Given the description of an element on the screen output the (x, y) to click on. 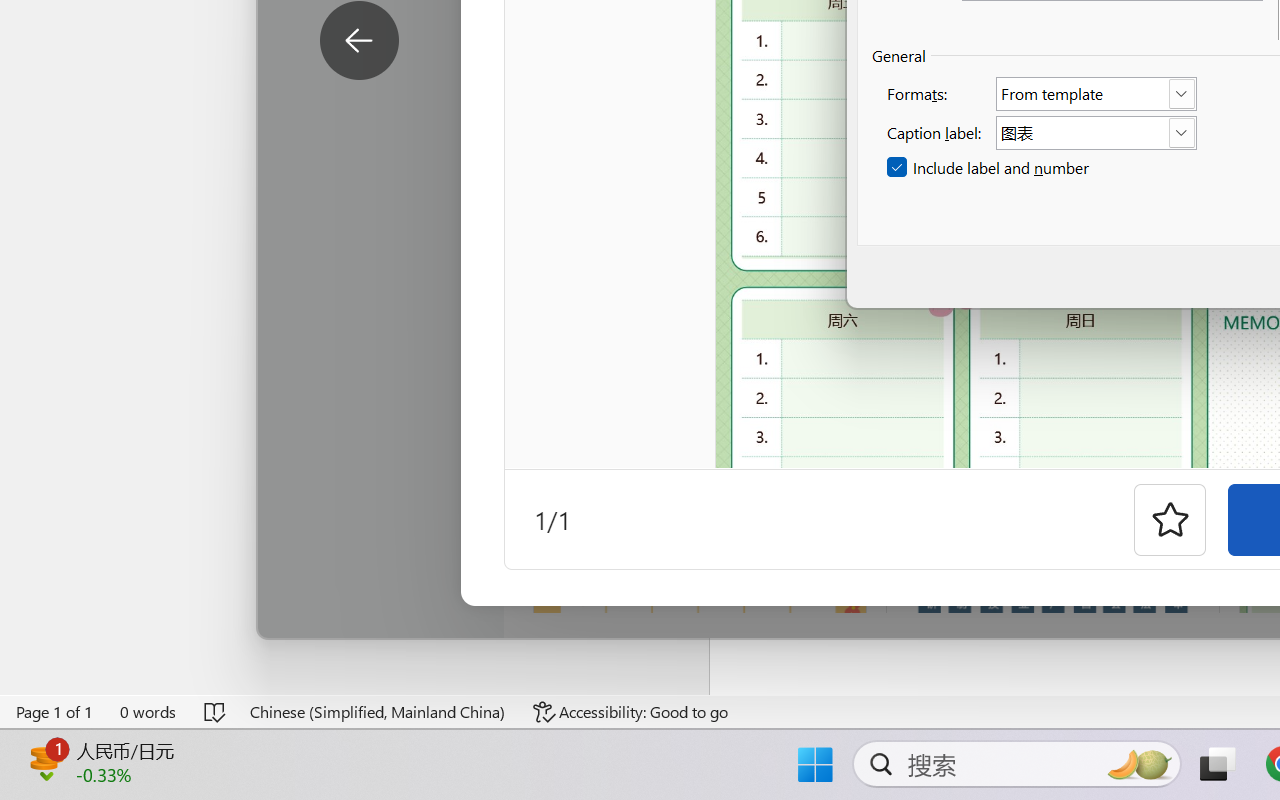
Formats: (1095, 93)
Caption label: (1095, 132)
Language Chinese (Simplified, Mainland China) (378, 712)
Include label and number (990, 167)
